Given the description of an element on the screen output the (x, y) to click on. 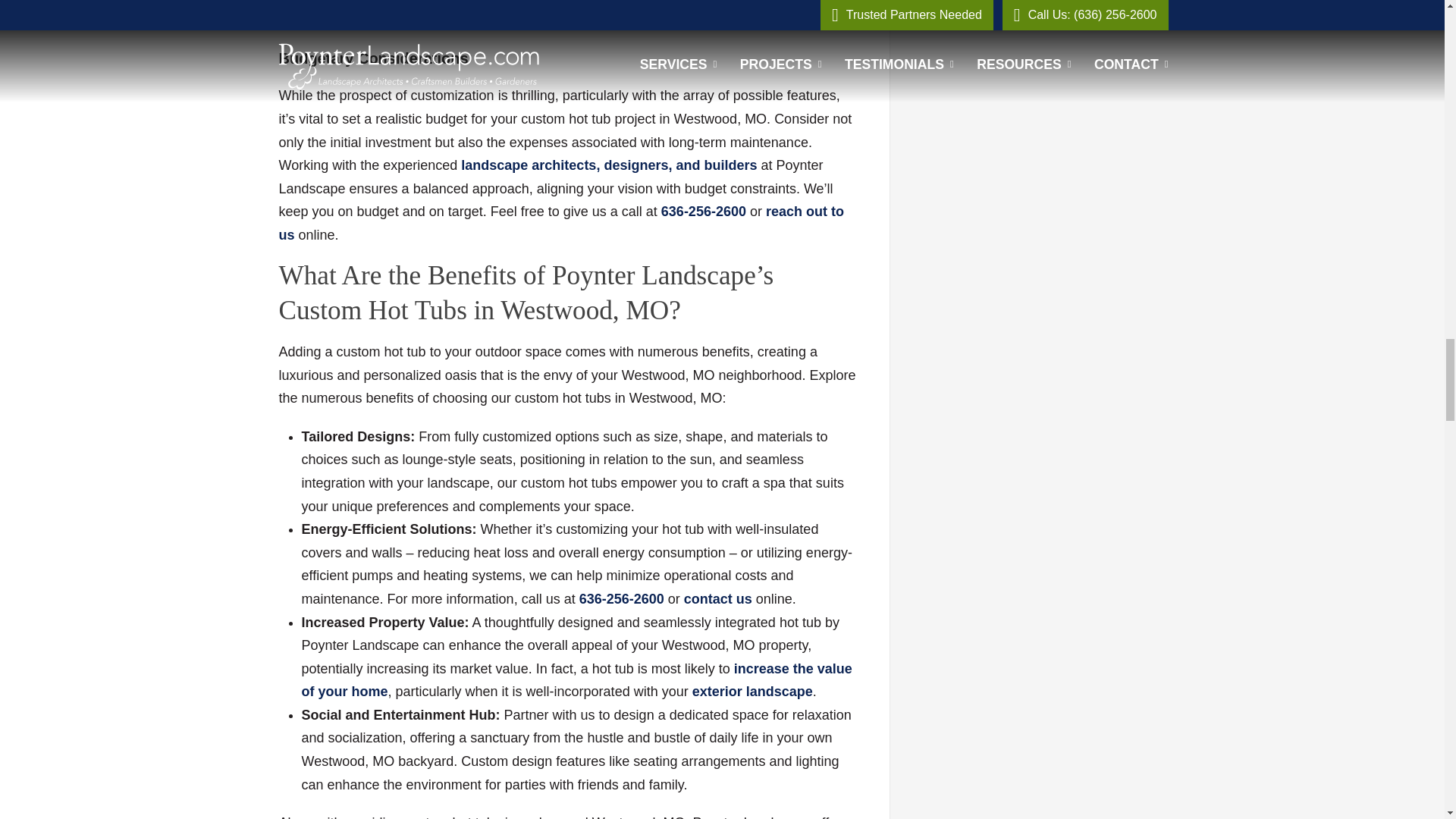
Custom Hot Tubs Westwood, MO - Forbes (576, 680)
